Given the description of an element on the screen output the (x, y) to click on. 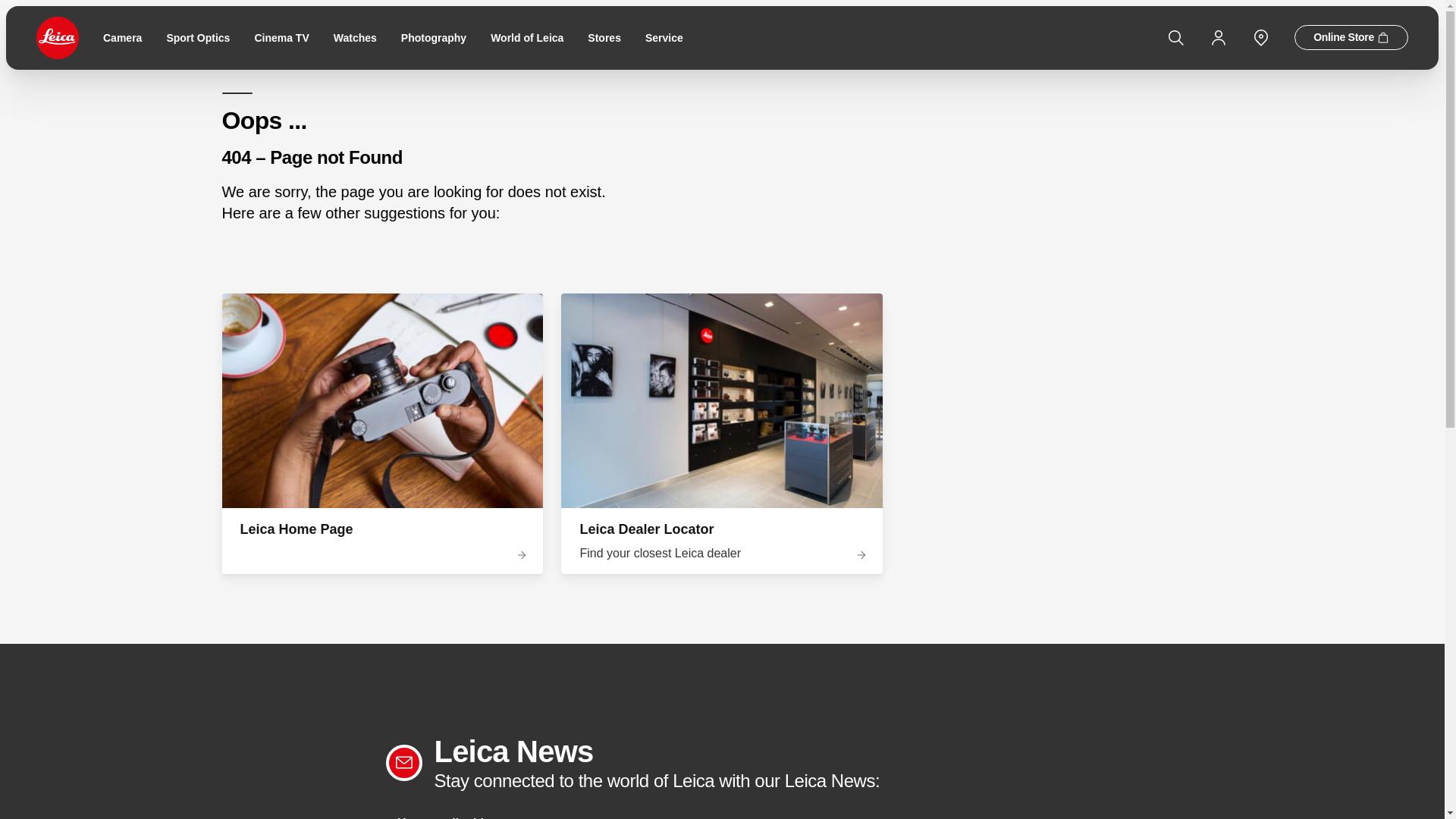
Open menu (8, 5)
